Given the description of an element on the screen output the (x, y) to click on. 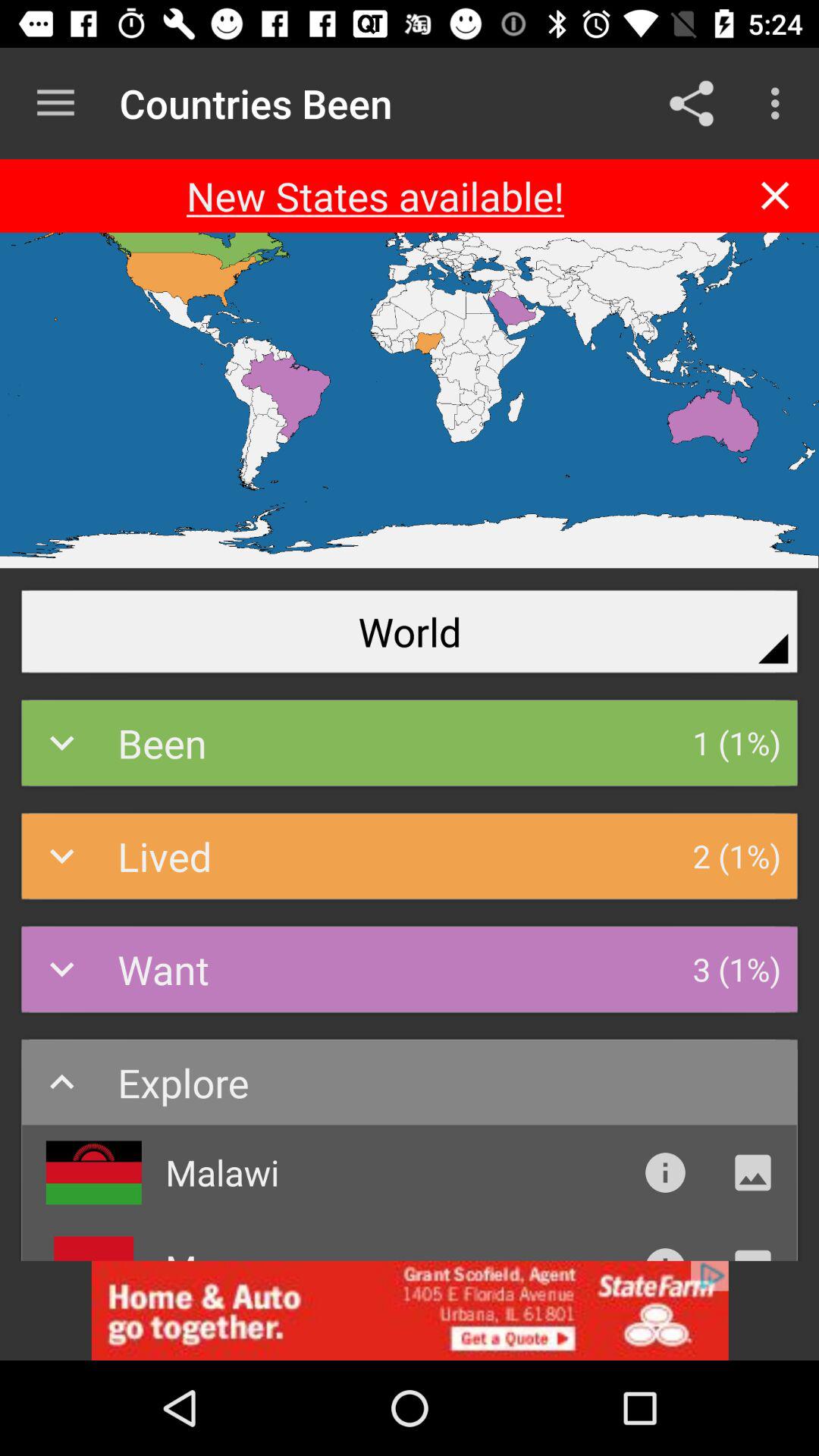
click the picture (752, 1172)
